Given the description of an element on the screen output the (x, y) to click on. 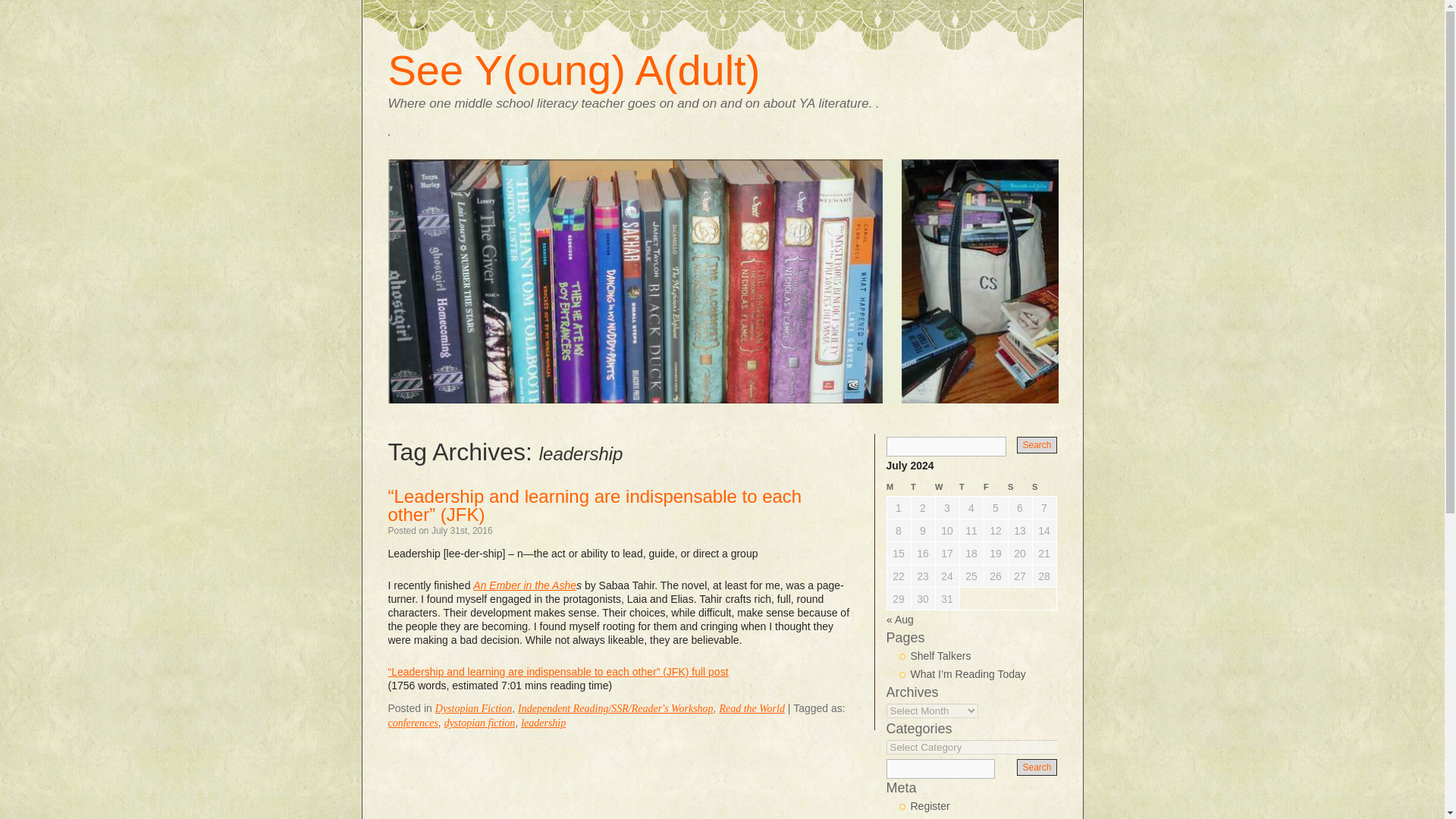
Search (1036, 767)
Tuesday (922, 486)
An Ember in the Ashe (524, 585)
Search (1036, 767)
Saturday (1019, 486)
Dystopian Fiction (473, 708)
Thursday (971, 486)
Search (1036, 444)
Search (1036, 444)
dystopian fiction (479, 722)
conferences (413, 722)
leadership (543, 722)
author page (524, 585)
Friday (995, 486)
Monday (898, 486)
